Given the description of an element on the screen output the (x, y) to click on. 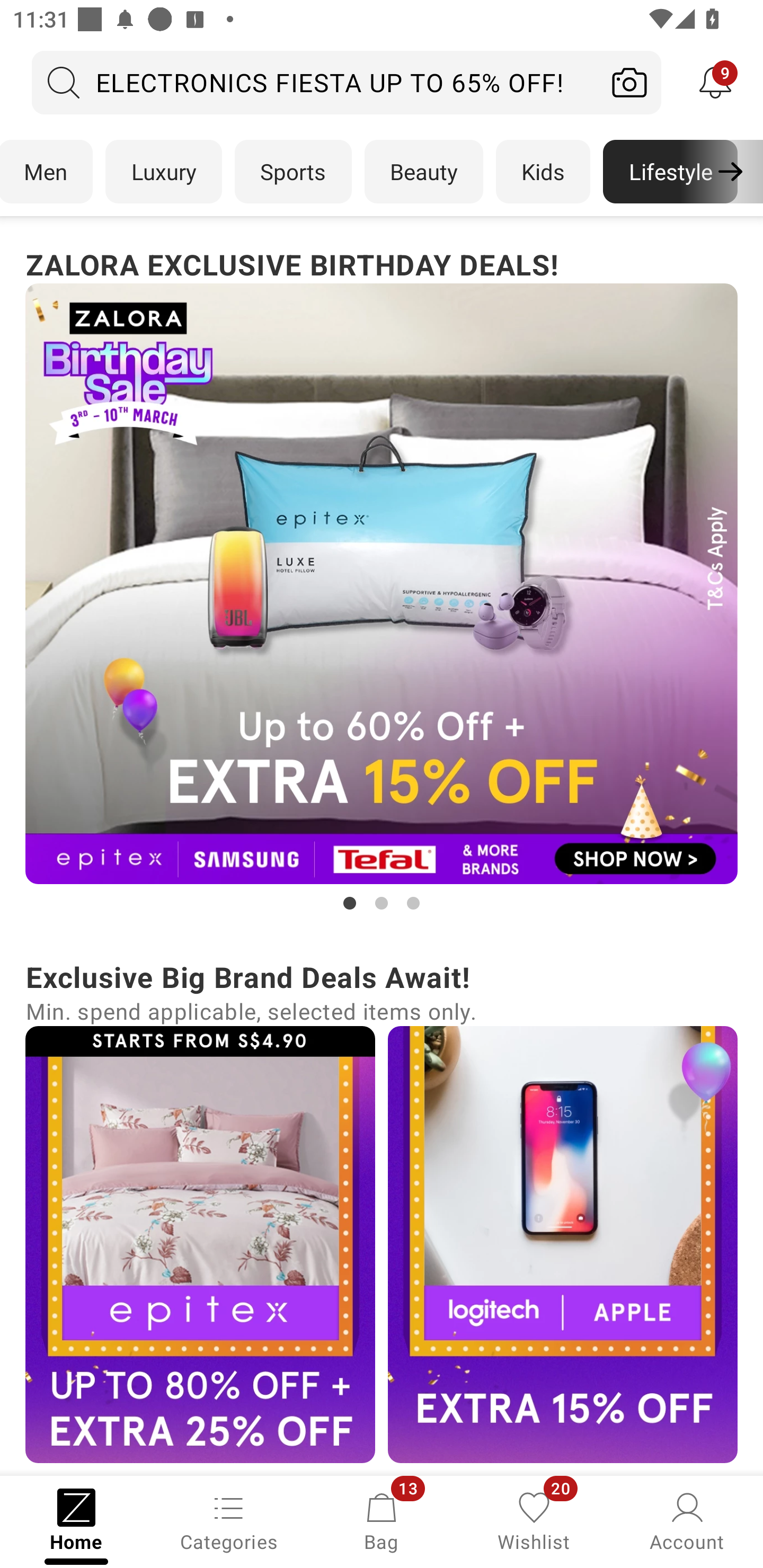
ELECTRONICS FIESTA UP TO 65% OFF! (314, 82)
Men (46, 171)
Luxury (163, 171)
Sports (293, 171)
Beauty (423, 171)
Kids (542, 171)
Lifestyle (669, 171)
ZALORA EXCLUSIVE BIRTHDAY DEALS! Campaign banner (381, 578)
Campaign banner (381, 583)
Campaign banner (200, 1243)
Campaign banner (562, 1243)
Categories (228, 1519)
Bag, 13 new notifications Bag (381, 1519)
Wishlist, 20 new notifications Wishlist (533, 1519)
Account (686, 1519)
